Given the description of an element on the screen output the (x, y) to click on. 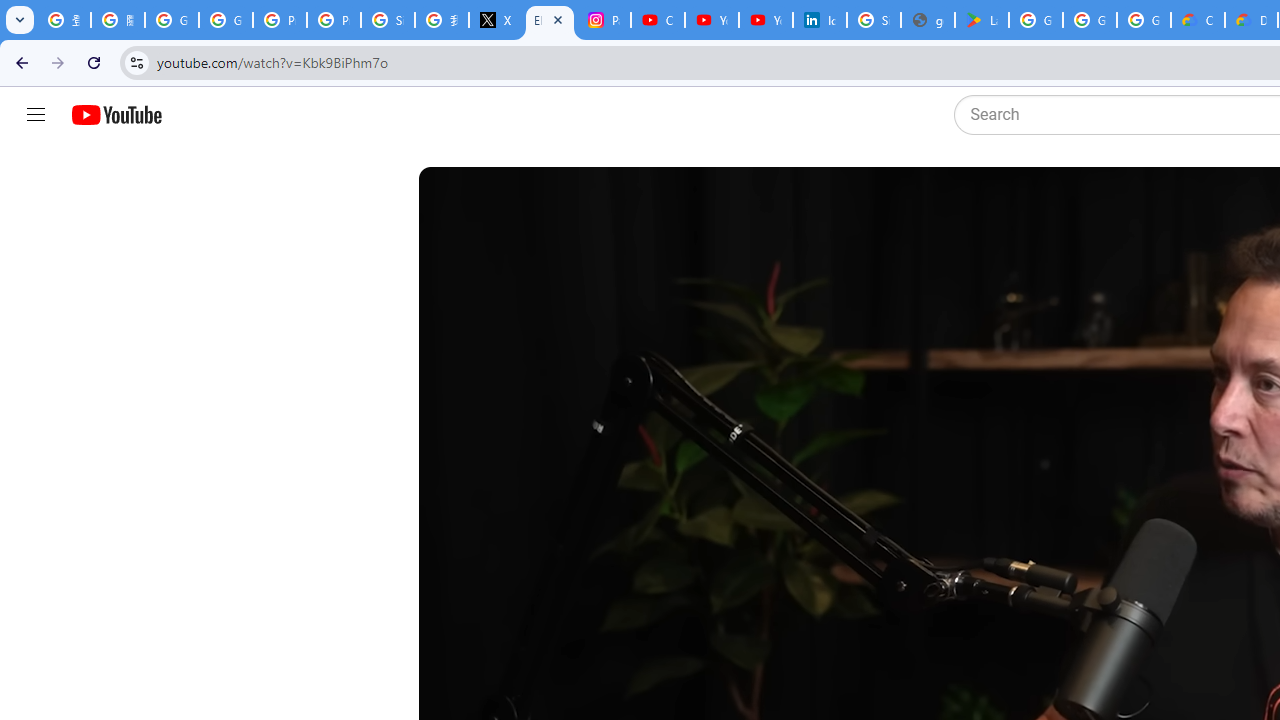
Sign in - Google Accounts (387, 20)
YouTube Culture & Trends - YouTube Top 10, 2021 (765, 20)
Privacy Help Center - Policies Help (333, 20)
YouTube Home (116, 115)
Last Shelter: Survival - Apps on Google Play (981, 20)
Guide (35, 115)
Privacy Help Center - Policies Help (280, 20)
